Given the description of an element on the screen output the (x, y) to click on. 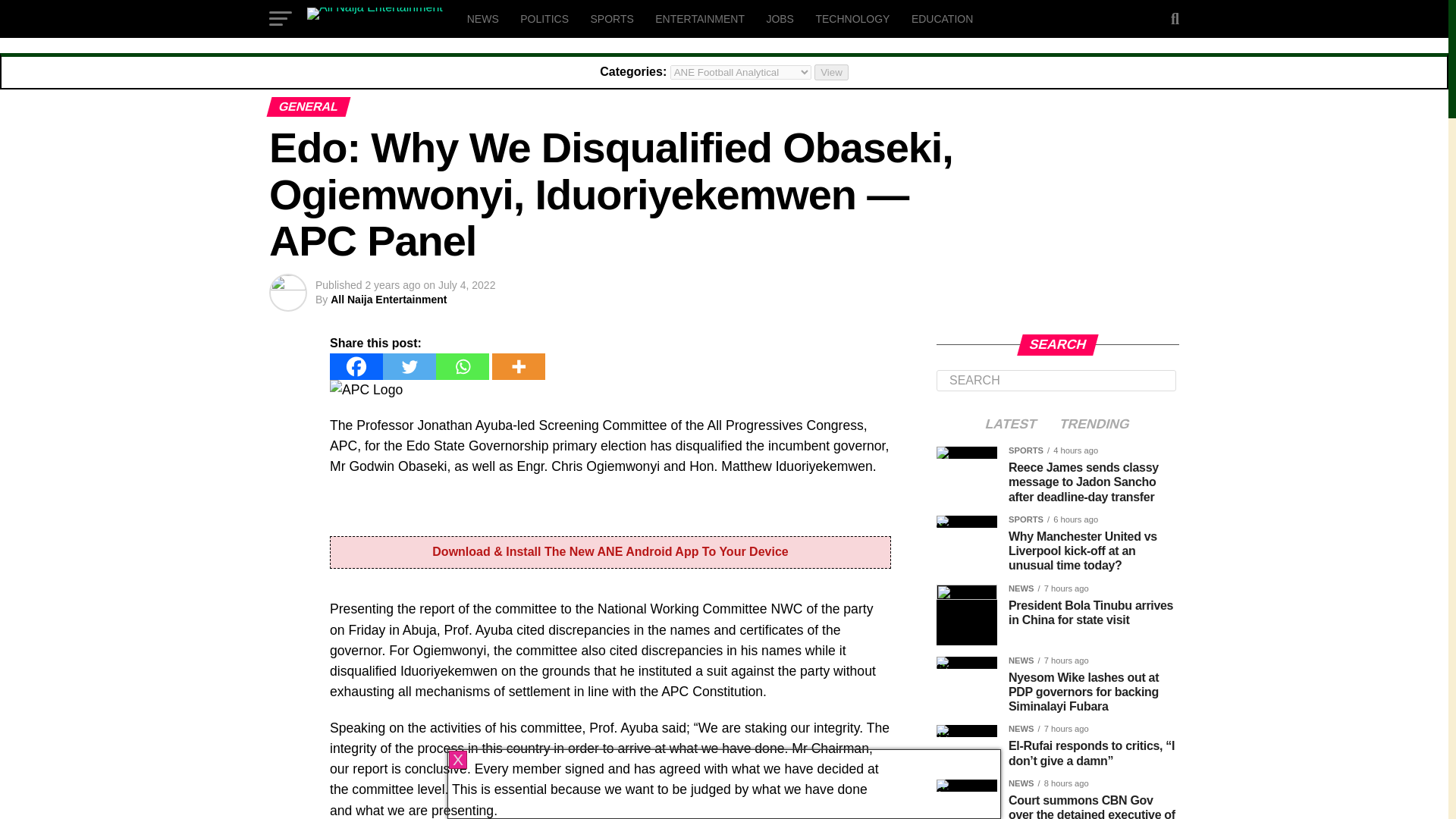
View (830, 72)
SPORTS (611, 18)
View (830, 72)
TECHNOLOGY (852, 18)
Posts by All Naija Entertainment (388, 299)
ENTERTAINMENT (700, 18)
More (518, 366)
Facebook (356, 366)
Search (1056, 380)
Twitter (408, 366)
